Given the description of an element on the screen output the (x, y) to click on. 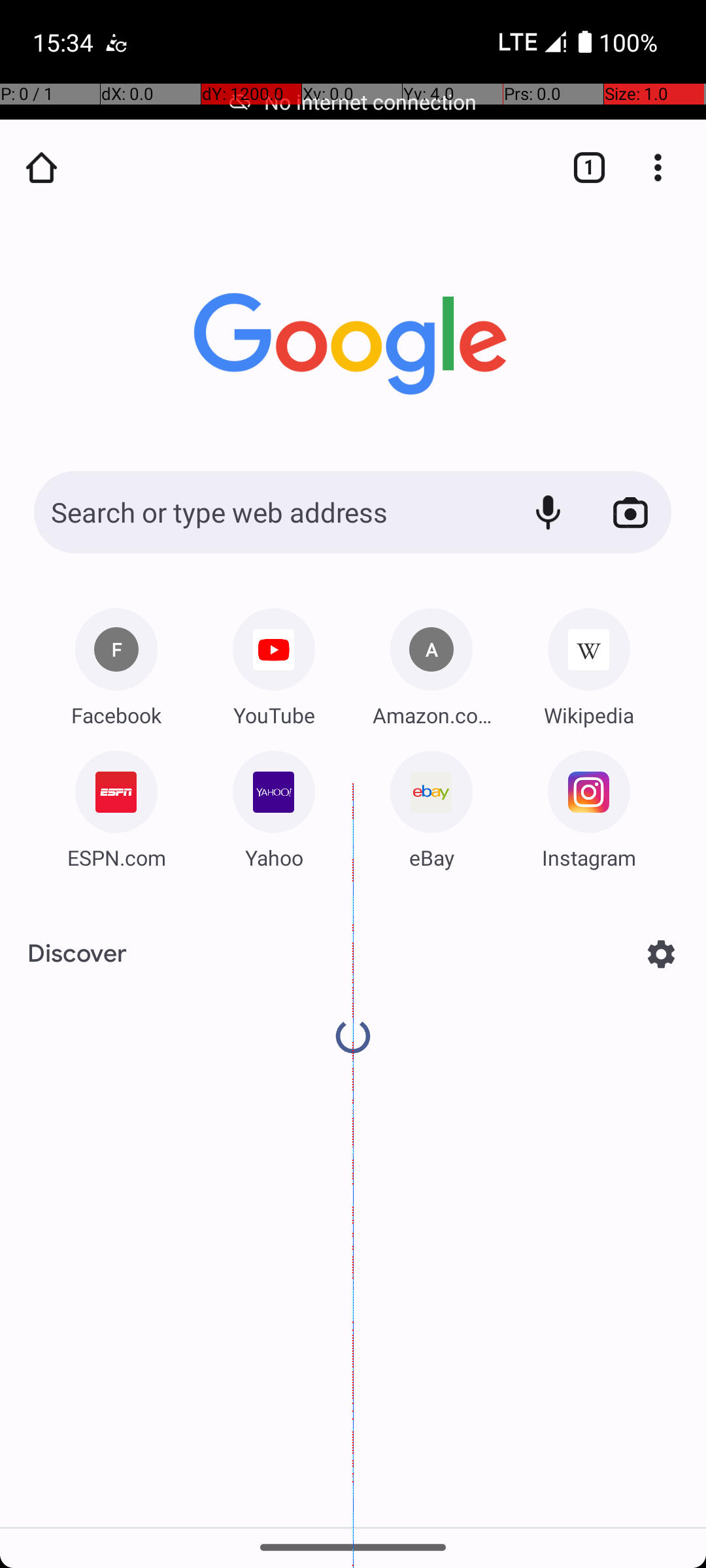
Search with your camera using Google Lens Element type: android.widget.ImageView (629, 512)
Navigate: Facebook: m.facebook.com Element type: android.widget.FrameLayout (115, 662)
Navigate: YouTube: m.youtube.com Element type: android.widget.FrameLayout (273, 662)
Navigate: Amazon.com: www.amazon.com Element type: android.widget.FrameLayout (431, 662)
Navigate: Wikipedia: en.m.wikipedia.org Element type: android.widget.FrameLayout (588, 662)
Navigate: ESPN.com: www.espn.com Element type: android.widget.FrameLayout (115, 804)
Navigate: Yahoo: www.yahoo.com Element type: android.widget.FrameLayout (273, 804)
Navigate: eBay: m.ebay.com Element type: android.widget.FrameLayout (431, 804)
Navigate: Instagram: www.instagram.com Element type: android.widget.FrameLayout (588, 804)
Options for Discover Element type: android.widget.ImageButton (660, 953)
Amazon.com Element type: android.widget.TextView (430, 715)
ESPN.com Element type: android.widget.TextView (115, 857)
eBay Element type: android.widget.TextView (430, 857)
Instagram Element type: android.widget.TextView (588, 857)
